Given the description of an element on the screen output the (x, y) to click on. 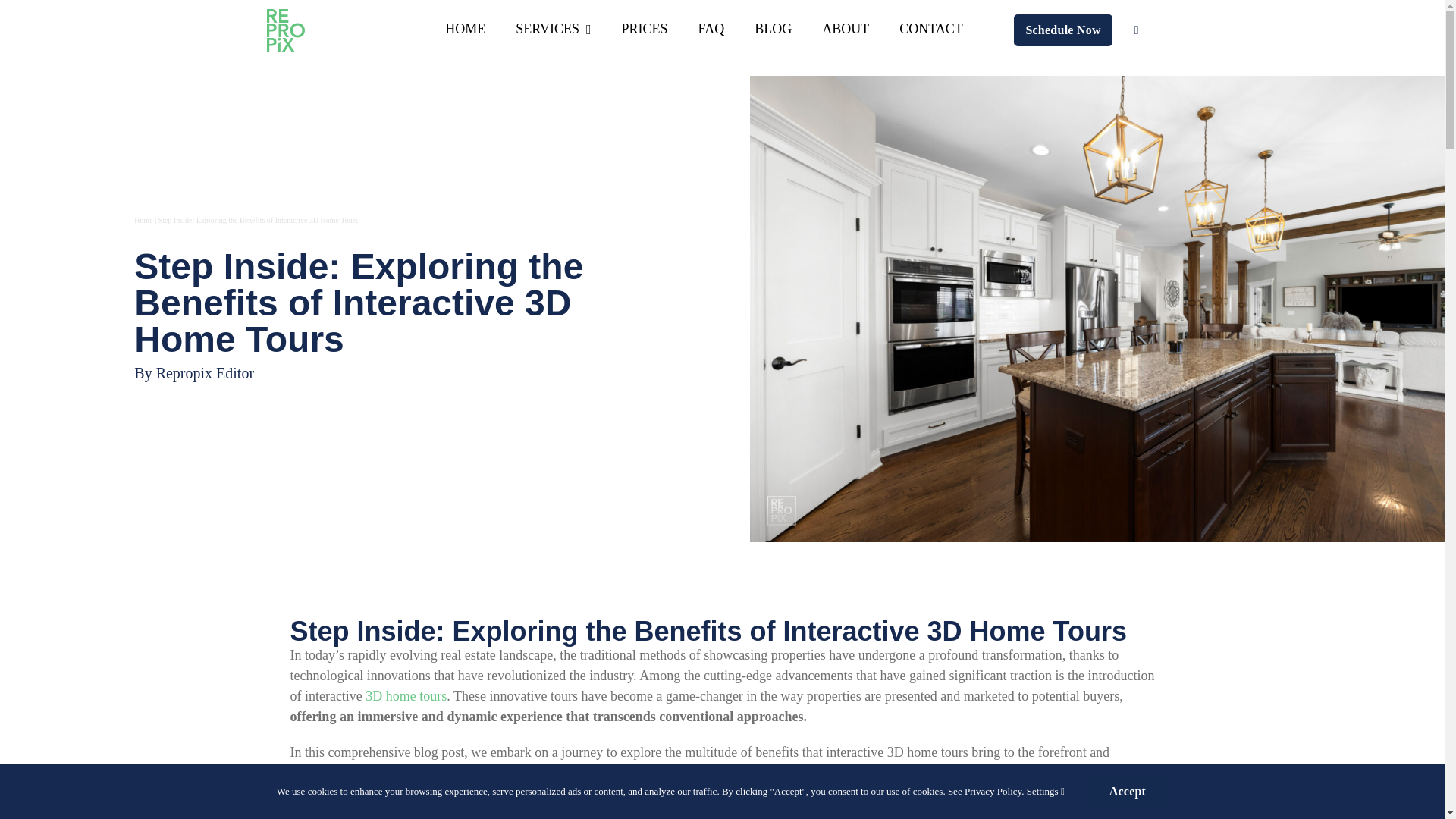
Schedule Now (1062, 29)
PRICES (643, 30)
Home (142, 220)
CONTACT (930, 30)
BLOG (773, 30)
HOME (464, 30)
SERVICES (553, 30)
3D home tours (405, 695)
FAQ (710, 30)
ABOUT (845, 30)
